Given the description of an element on the screen output the (x, y) to click on. 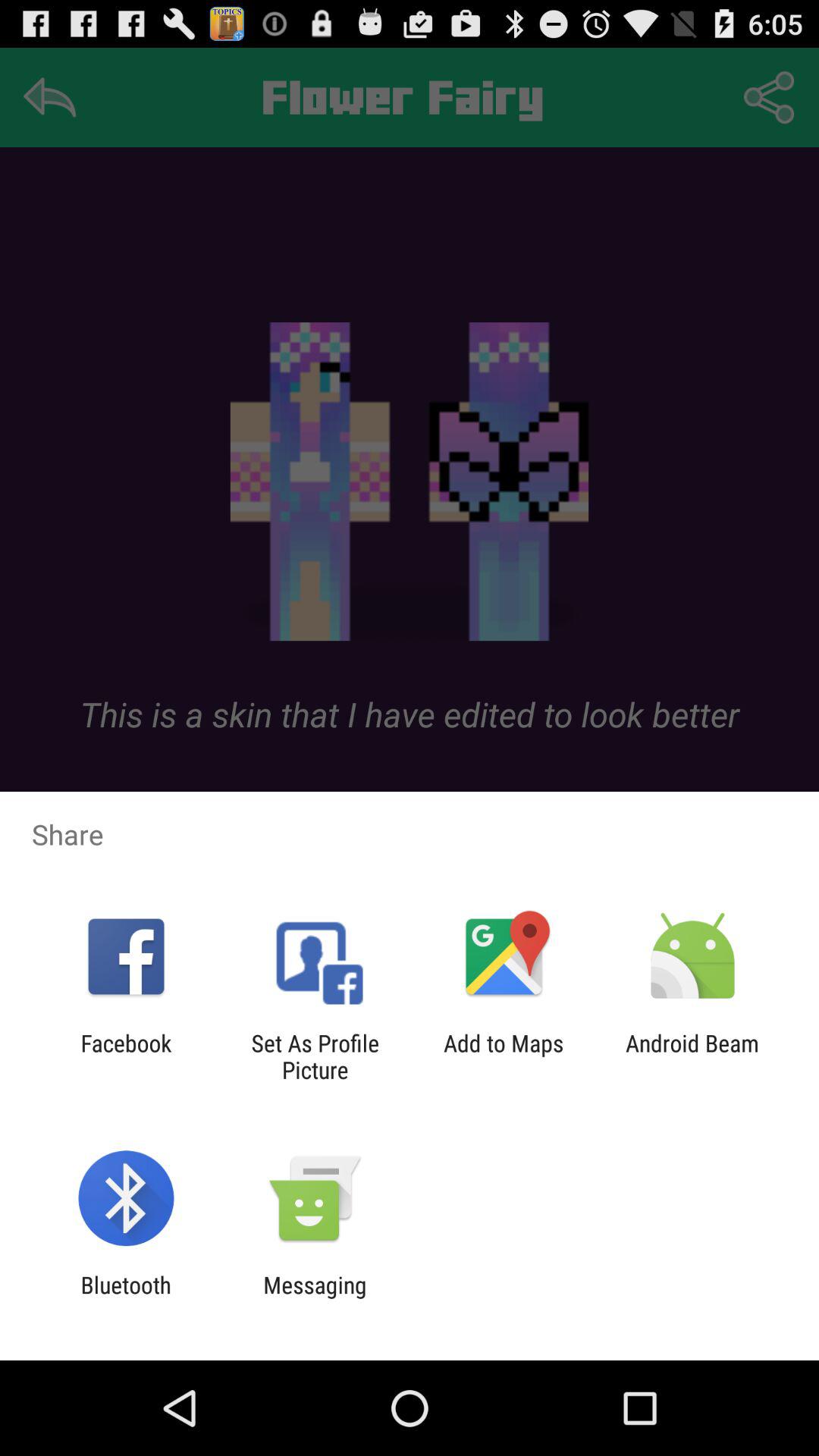
jump until add to maps app (503, 1056)
